Given the description of an element on the screen output the (x, y) to click on. 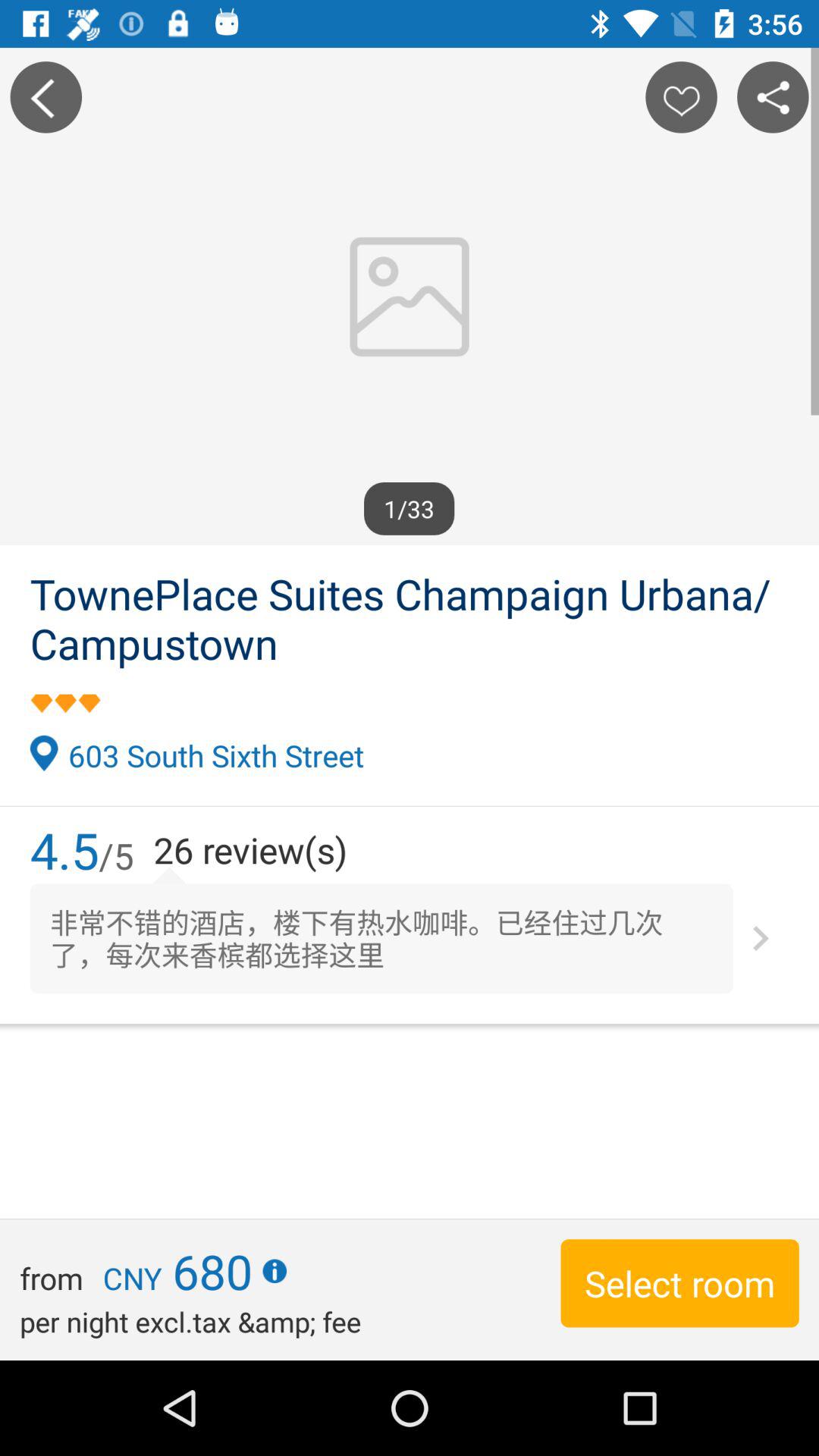
like (681, 97)
